Given the description of an element on the screen output the (x, y) to click on. 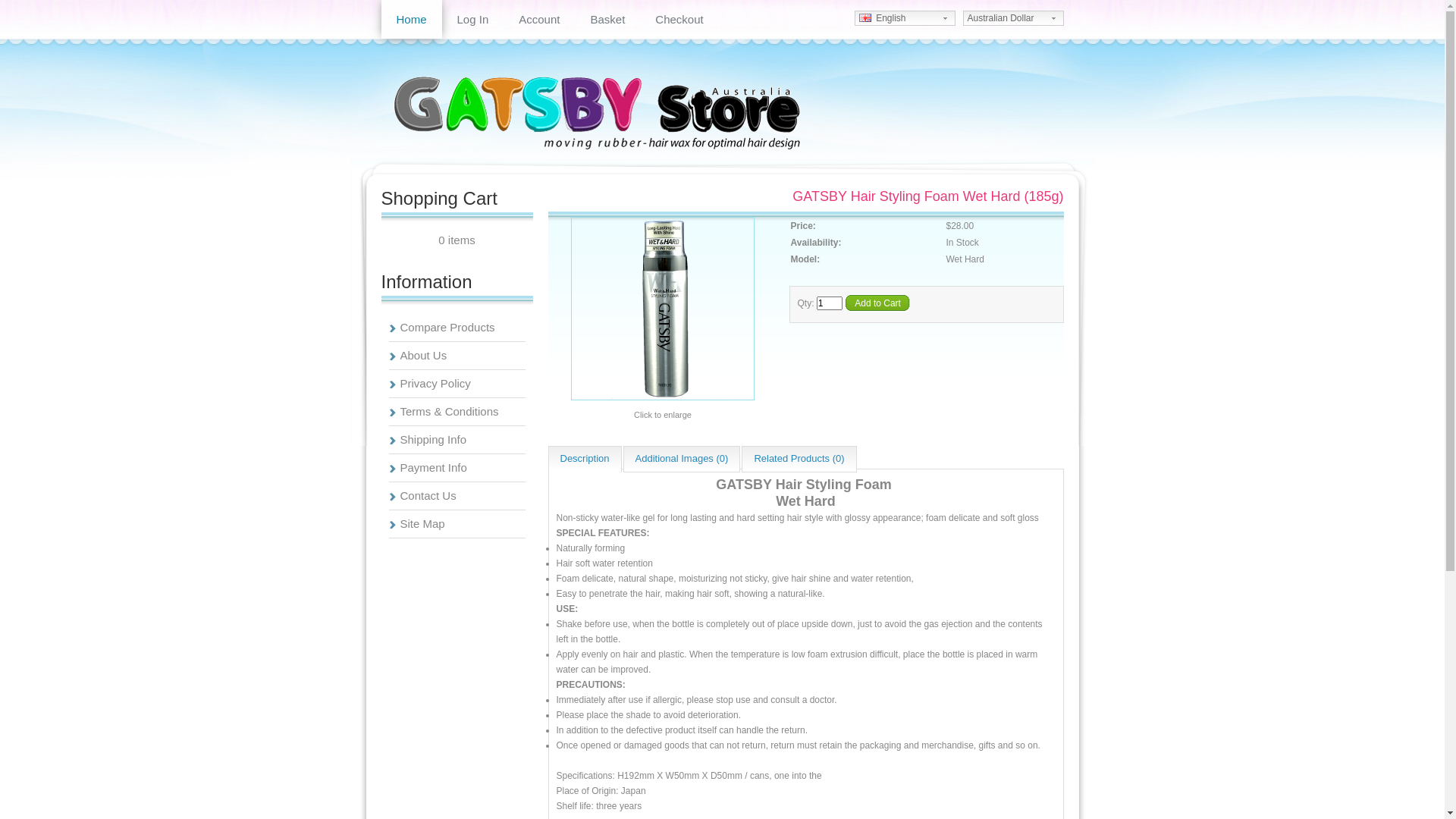
Shipping Info Element type: text (433, 439)
Compare Products Element type: text (447, 326)
Log In Element type: text (473, 19)
  English Element type: text (903, 17)
Related Products (0) Element type: text (798, 458)
GATSBY Hair Styling Foam Wet Hard (185g) Element type: hover (662, 308)
Additional Images (0) Element type: text (681, 458)
Australian Dollar Element type: text (1013, 17)
Privacy Policy Element type: text (435, 382)
Terms & Conditions Element type: text (449, 410)
GATSBY Hair Styling Foam Wet Hard (185g) Element type: hover (662, 399)
Home Element type: text (410, 19)
Contact Us Element type: text (428, 495)
Description Element type: text (584, 458)
Site Map Element type: text (422, 523)
Gatsby Store - Gatsby Moving Rubber $7.95 Australia Wide! Element type: hover (596, 110)
About Us Element type: text (423, 354)
Checkout Element type: text (679, 19)
Add to Cart Element type: text (877, 304)
Account Element type: text (538, 19)
Payment Info Element type: text (433, 467)
Basket Element type: text (607, 19)
